Given the description of an element on the screen output the (x, y) to click on. 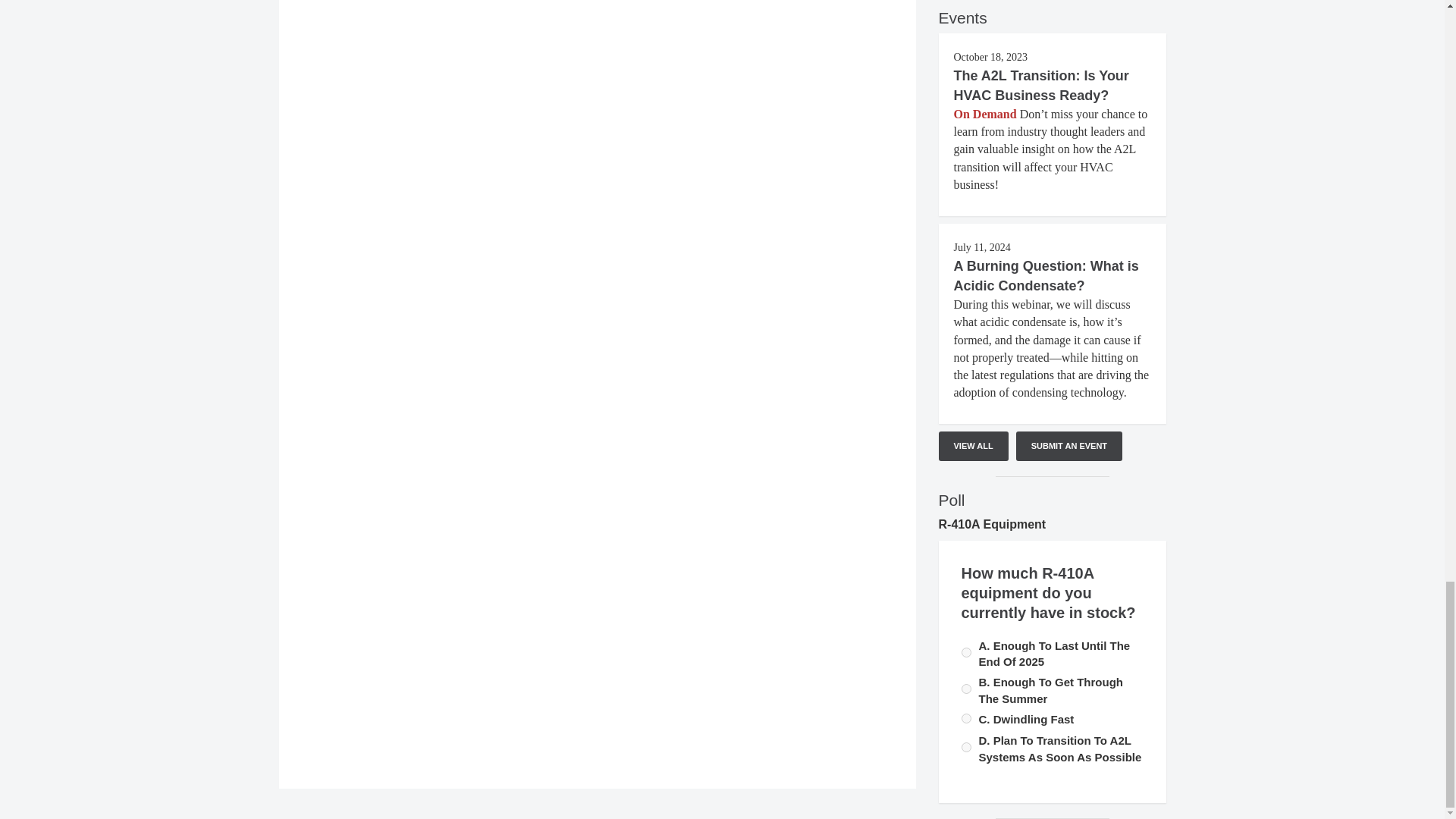
599 (965, 747)
596 (965, 688)
The A2L Transition: Is Your HVAC Business Ready? (1041, 85)
598 (965, 718)
A Burning Question: What is Acidic Condensate? (1045, 275)
597 (965, 652)
